Given the description of an element on the screen output the (x, y) to click on. 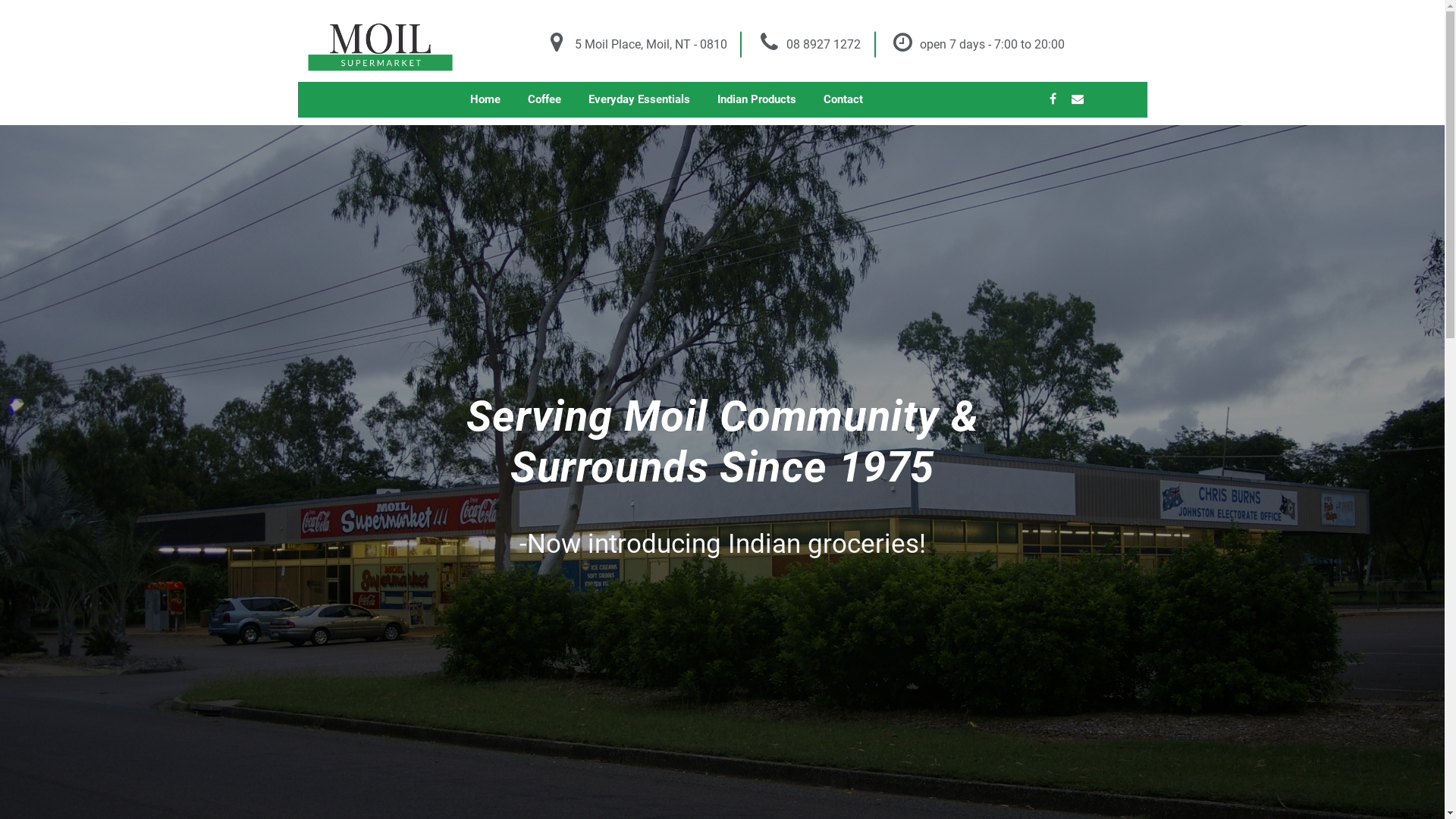
Indian Products Element type: text (756, 99)
5 Moil Place, Moil, NT - 0810 Element type: text (635, 44)
Everyday Essentials Element type: text (639, 99)
Contact Element type: text (843, 99)
08 8927 1272 Element type: text (807, 44)
Coffee Element type: text (544, 99)
Home Element type: text (485, 99)
